Given the description of an element on the screen output the (x, y) to click on. 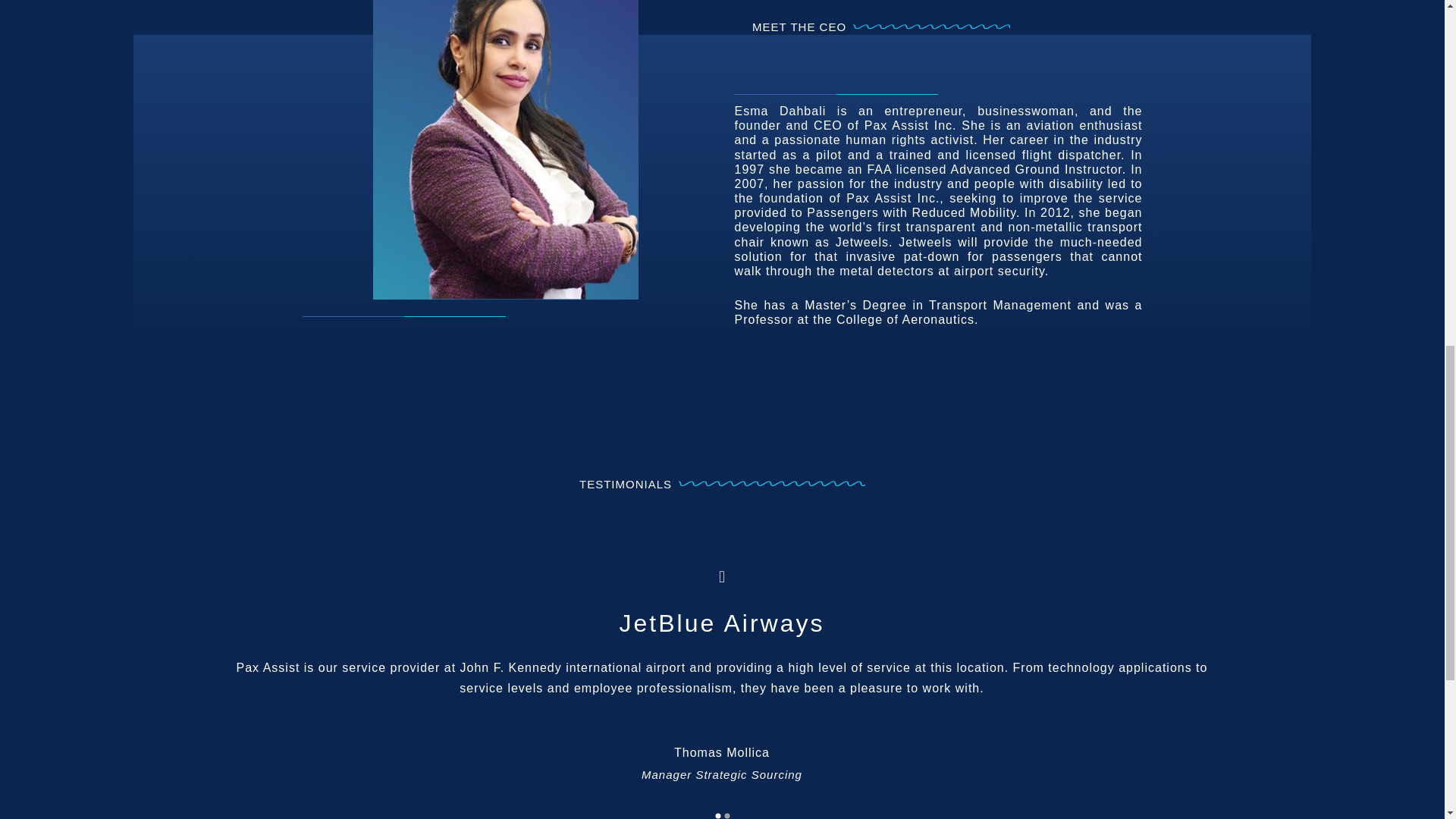
Page 1 (721, 688)
